Given the description of an element on the screen output the (x, y) to click on. 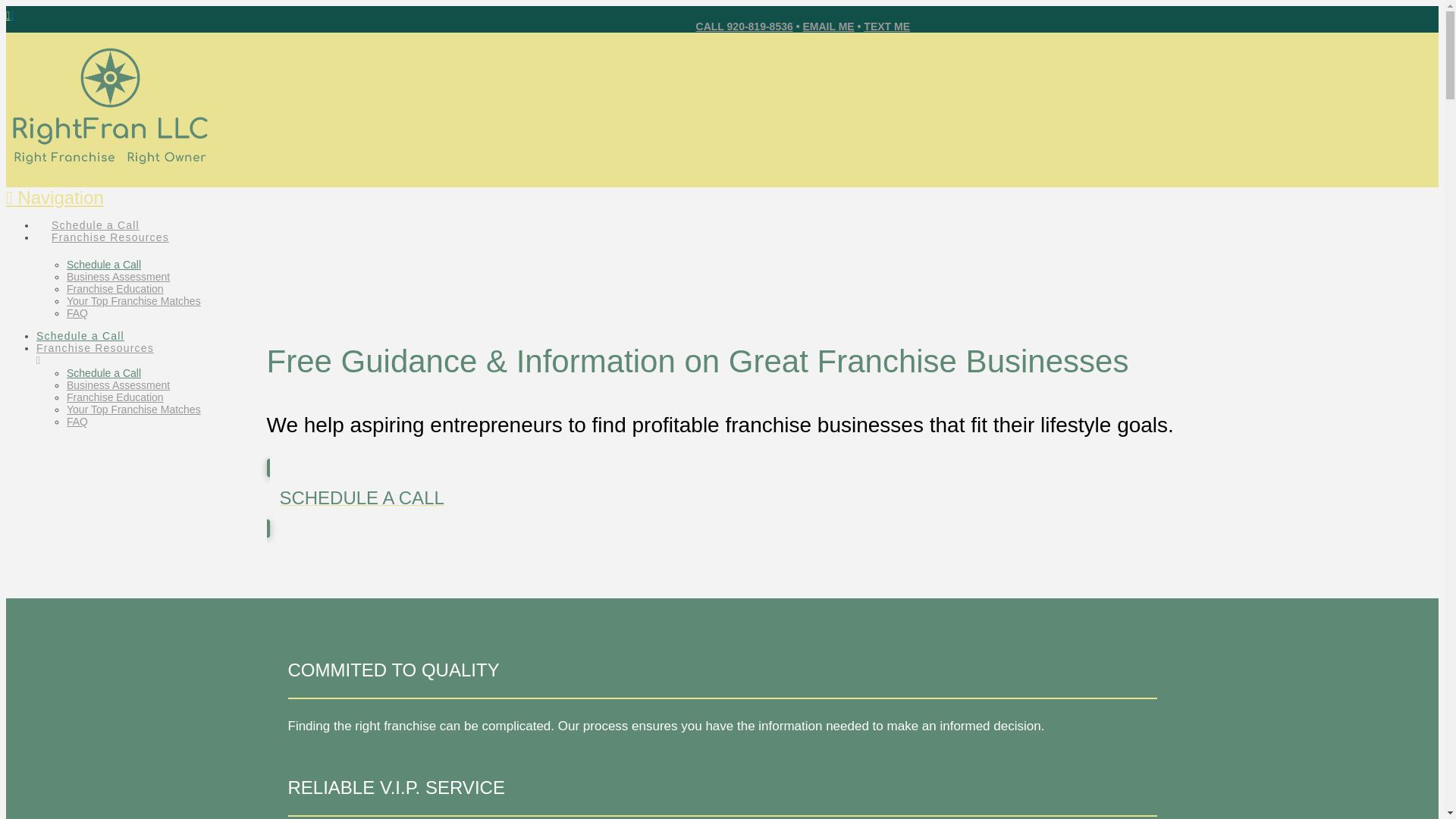
Franchise Education (114, 288)
Franchise Resources (475, 354)
Business Assessment (118, 385)
Franchise Resources (109, 227)
Schedule a Call (103, 372)
Navigation (54, 197)
FAQ (76, 313)
Schedule a Call (79, 336)
LinkedIn (17, 15)
Business Assessment (118, 276)
CALL 920-819-8536 (744, 26)
TEXT ME (886, 26)
FAQ (76, 421)
EMAIL ME (827, 26)
Schedule a Call (103, 264)
